Given the description of an element on the screen output the (x, y) to click on. 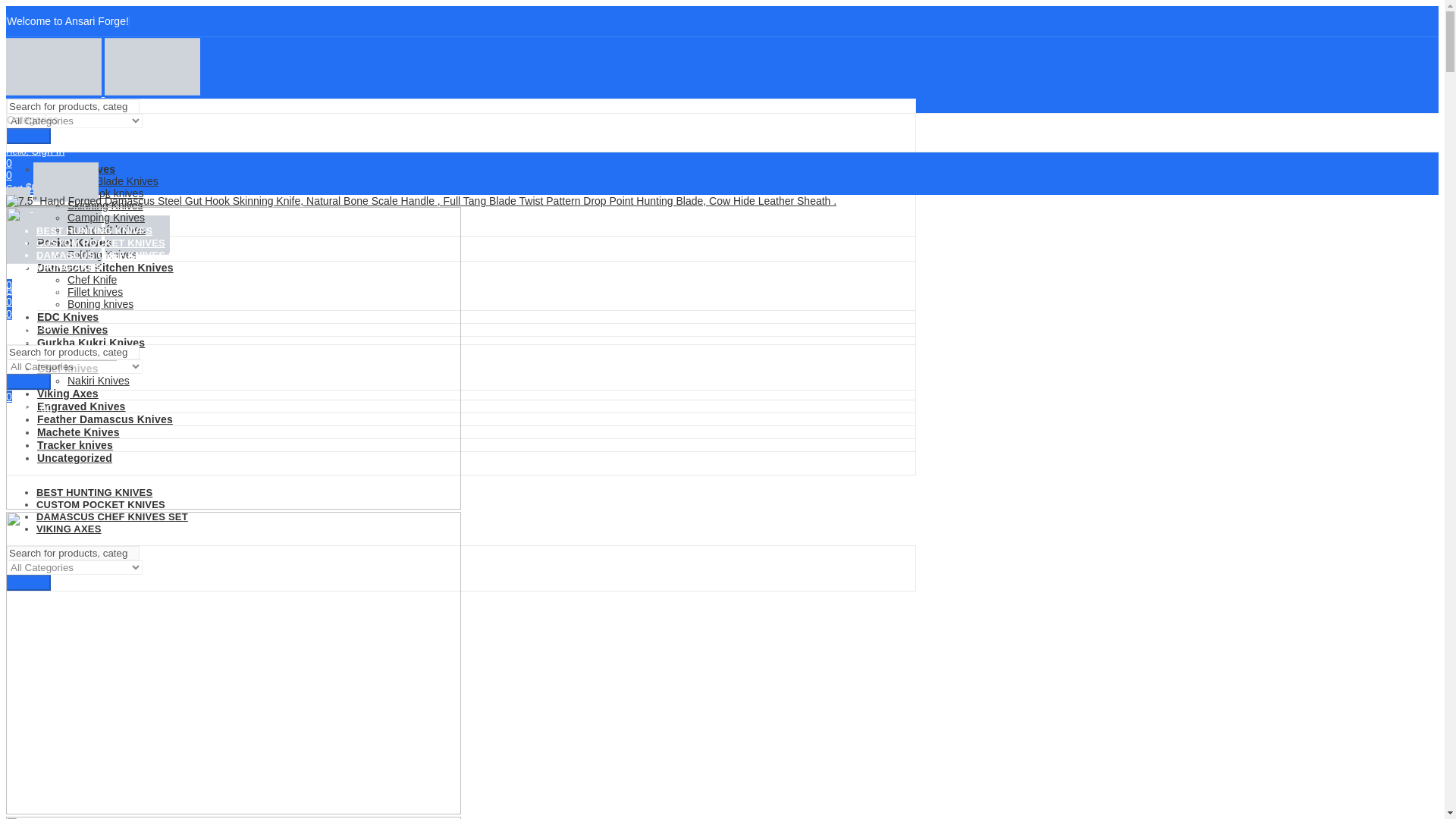
Boning knives (99, 304)
BEST HUNTING KNIVES (94, 491)
Fillet knives (94, 291)
Uncategorized (74, 458)
Hello, Sign In (460, 272)
Survival knives (76, 355)
Feather Damascus Knives (105, 419)
Nakiri Knives (97, 380)
Fixed Blade Knives (112, 181)
Search (28, 135)
